Given the description of an element on the screen output the (x, y) to click on. 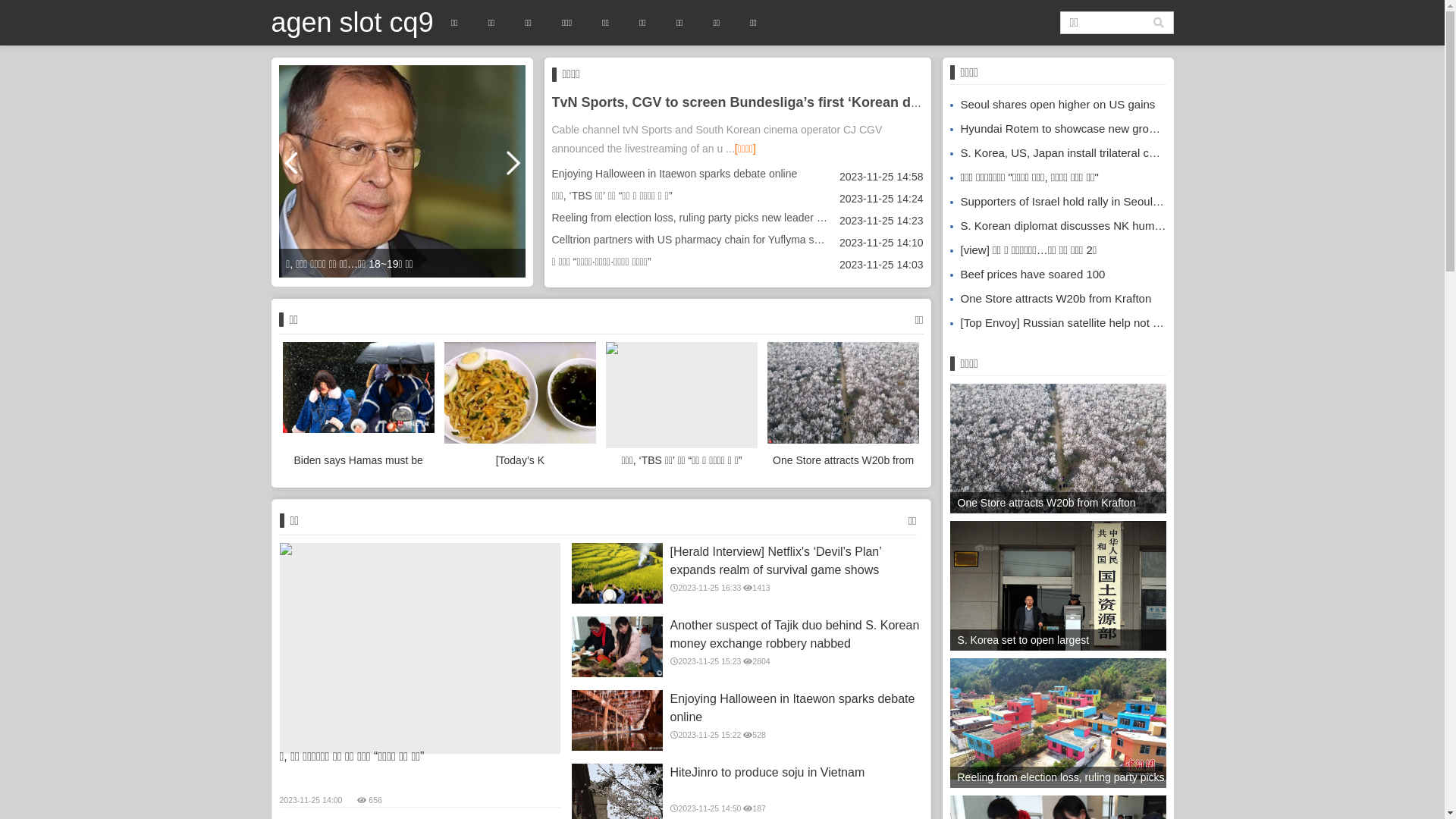
Enjoying Halloween in Itaewon sparks debate online Element type: text (795, 708)
One Store attracts W20b from Krafton Element type: text (1050, 297)
One Store attracts W20b from Krafton Element type: hover (1057, 455)
Enjoying Halloween in Itaewon sparks debate online Element type: hover (616, 720)
S. Korea set to open largest Element type: hover (1057, 594)
S. Korean diplomat discusses NK human rights with US envoy Element type: text (1111, 225)
HiteJinro to produce soju in Vietnam Element type: text (795, 772)
agen slot cq9 Element type: text (352, 21)
Enjoying Halloween in Itaewon sparks debate online Element type: text (674, 173)
Celltrion partners with US pharmacy chain for Yuflyma sales Element type: text (693, 239)
One Store attracts W20b from Krafton Element type: text (843, 407)
Beef prices have soared 100 Element type: text (1026, 273)
Seoul shares open higher on US gains Element type: text (1051, 103)
